Given the description of an element on the screen output the (x, y) to click on. 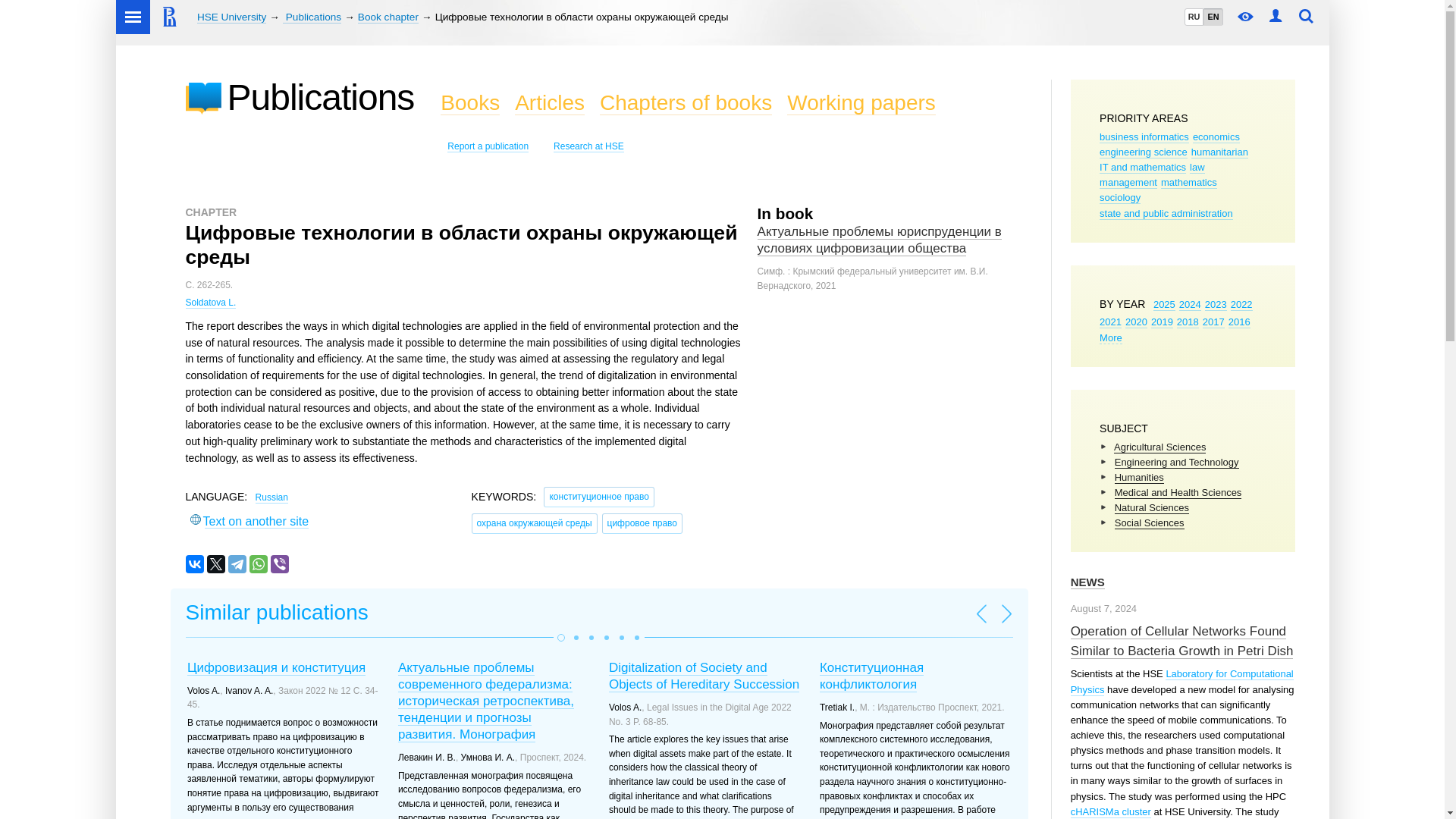
sociology (1119, 197)
2021 (1110, 322)
2023 (1216, 304)
2024 (1190, 304)
2018 (1187, 322)
state and public administration (1166, 214)
Book chapter (388, 17)
law (1197, 167)
Publications (311, 17)
2017 (1213, 322)
